Given the description of an element on the screen output the (x, y) to click on. 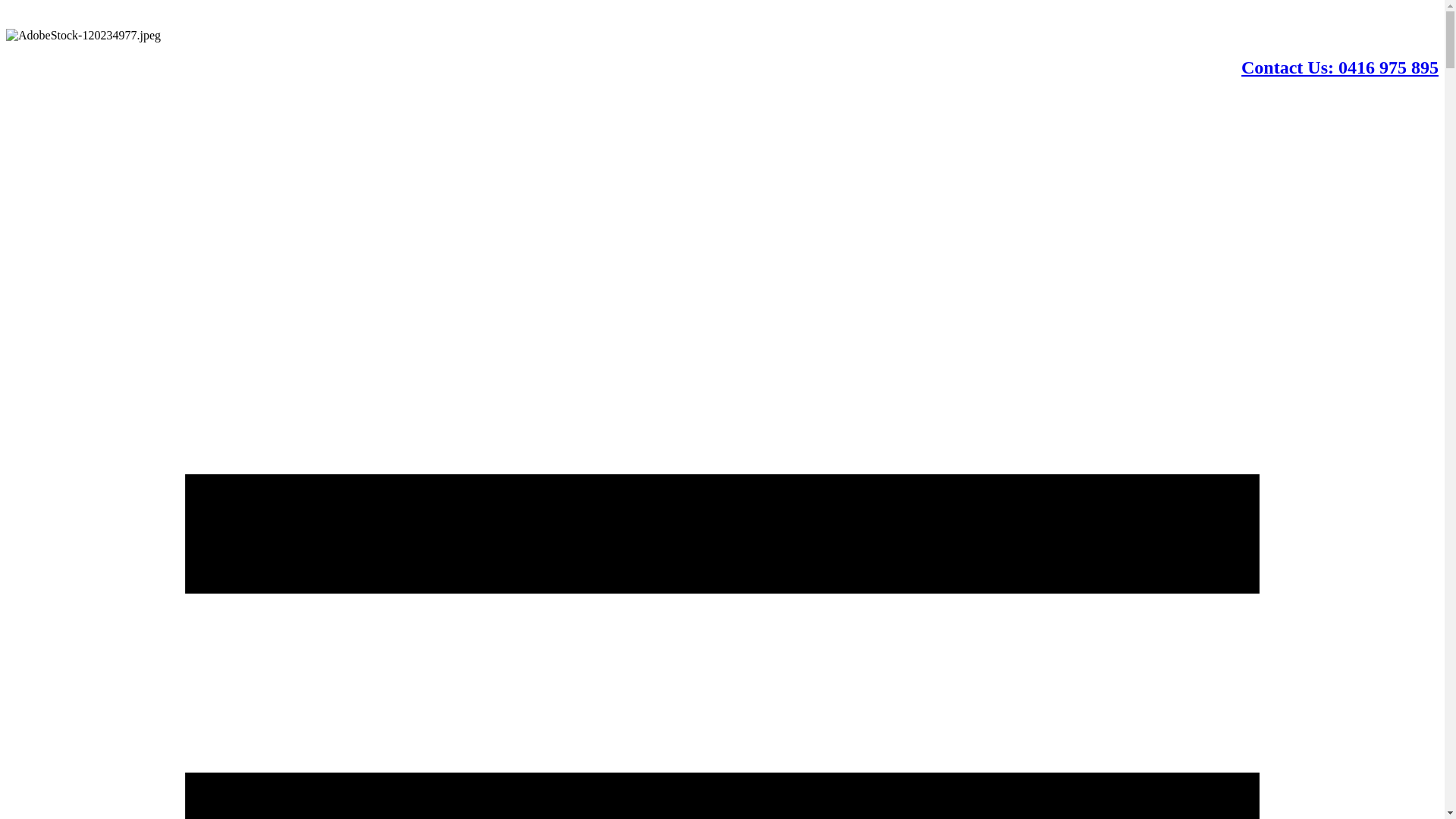
AdobeStock-120234977.jpeg Element type: hover (83, 35)
Contact Us: 0416 975 895 Element type: text (1339, 67)
